Given the description of an element on the screen output the (x, y) to click on. 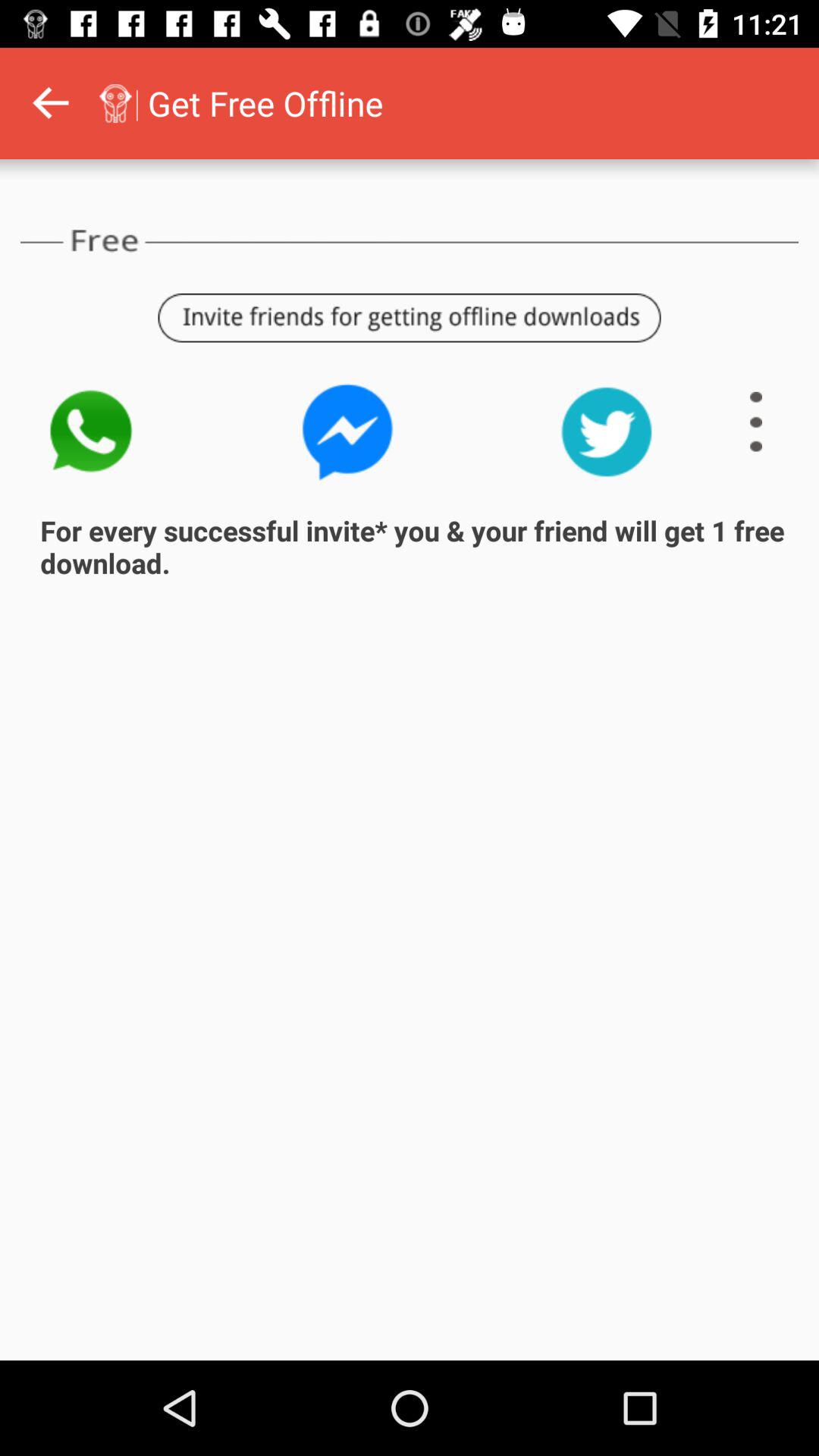
toggle whatsapp (89, 431)
